Given the description of an element on the screen output the (x, y) to click on. 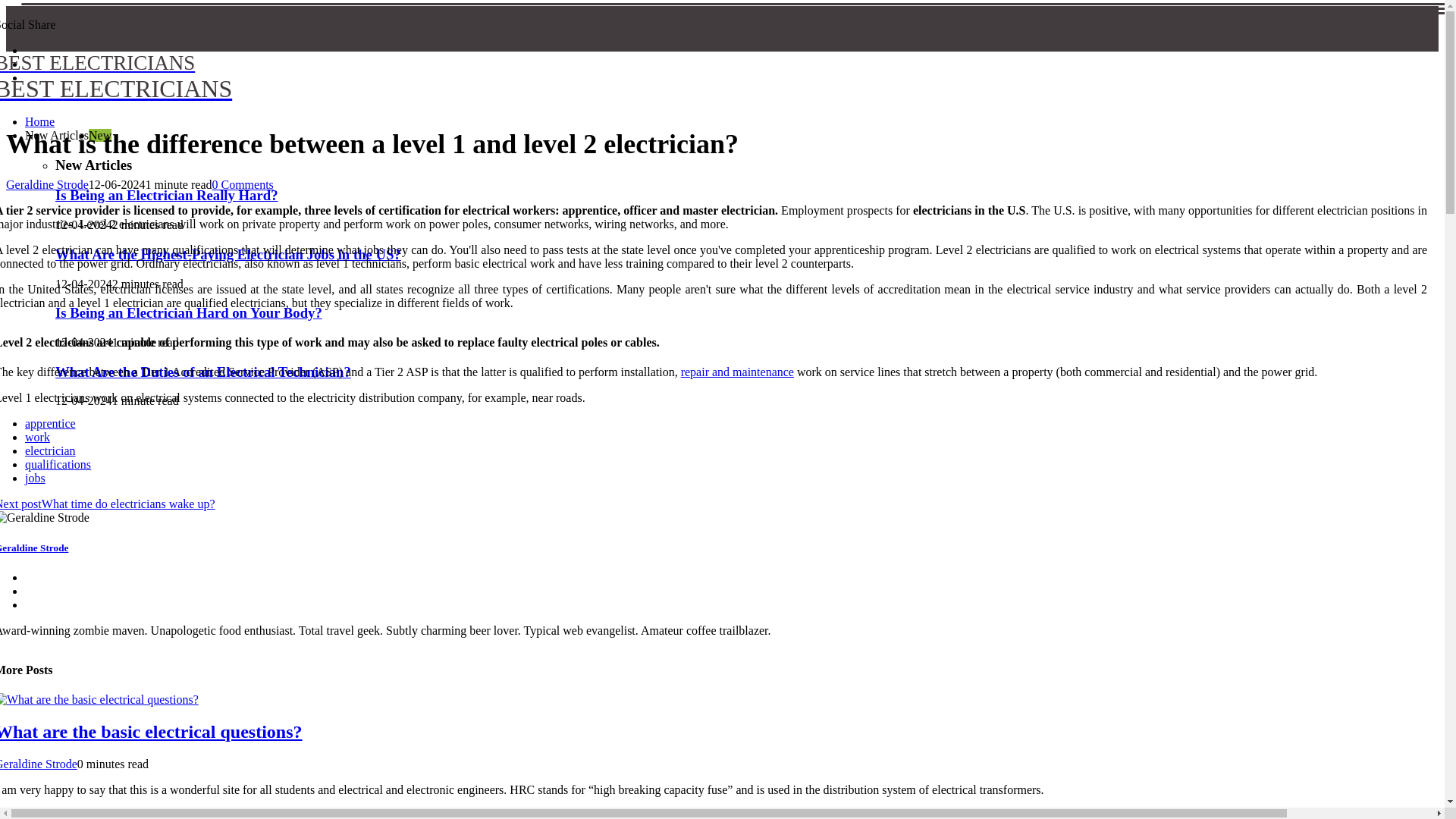
Geraldine Strode (38, 763)
Posts by Geraldine Strode (38, 763)
jobs (34, 477)
repair and maintenance (737, 371)
0 Comments (242, 184)
work (36, 436)
electrician (49, 450)
Geraldine Strode (34, 547)
What Are the Duties of an Electrical Technician? (202, 371)
What Are the Highest-Paying Electrician Jobs in the US? (200, 77)
What are the basic electrical questions? (228, 254)
Is Being an Electrician Really Hard? (151, 731)
Is Being an Electrician Hard on Your Body? (166, 195)
New ArticlesNew (188, 312)
